Given the description of an element on the screen output the (x, y) to click on. 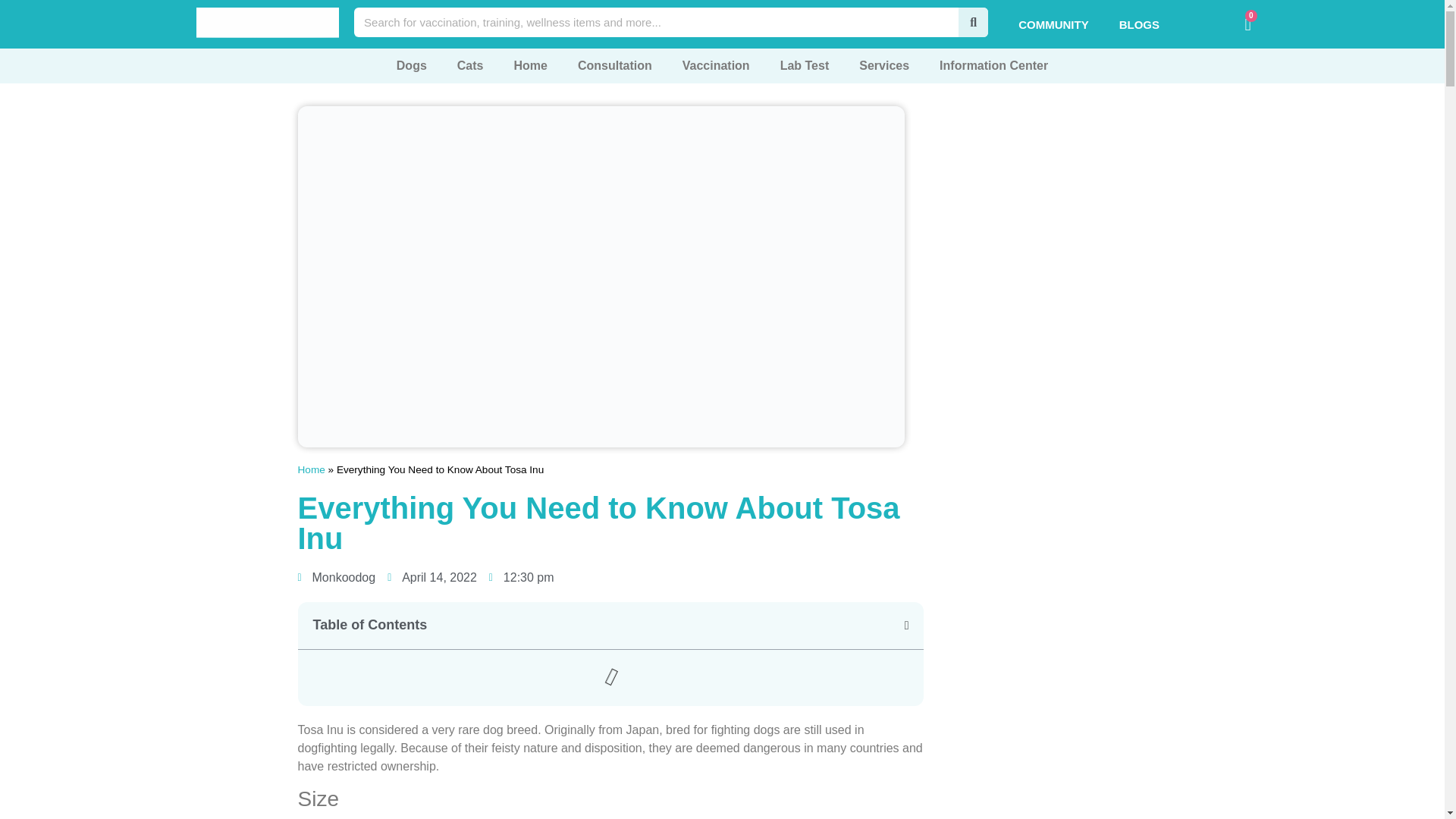
Best Veterinary Service in India (267, 22)
COMMUNITY (1053, 24)
BLOGS (1138, 24)
